Given the description of an element on the screen output the (x, y) to click on. 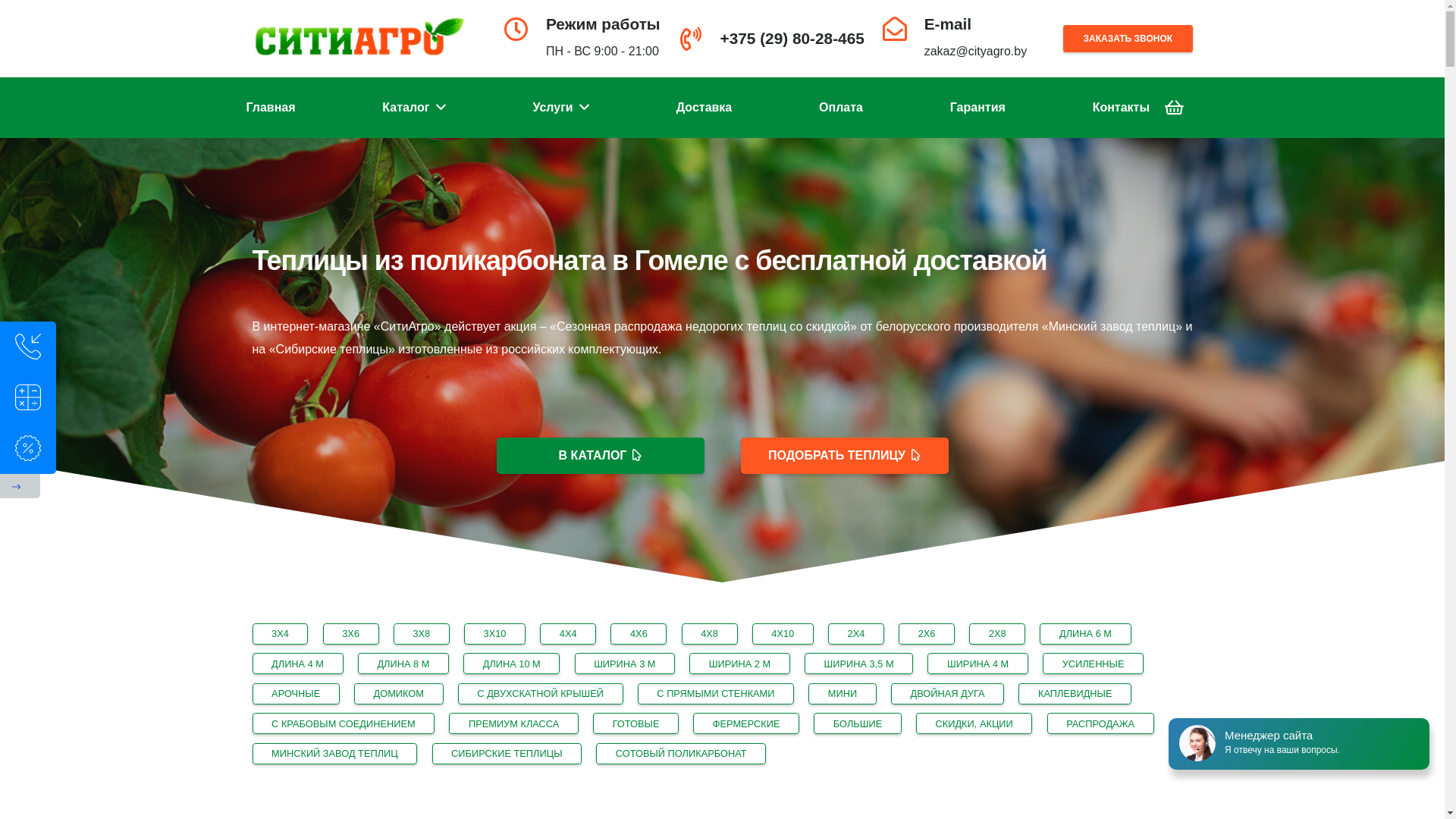
0 Element type: text (1173, 107)
